Given the description of an element on the screen output the (x, y) to click on. 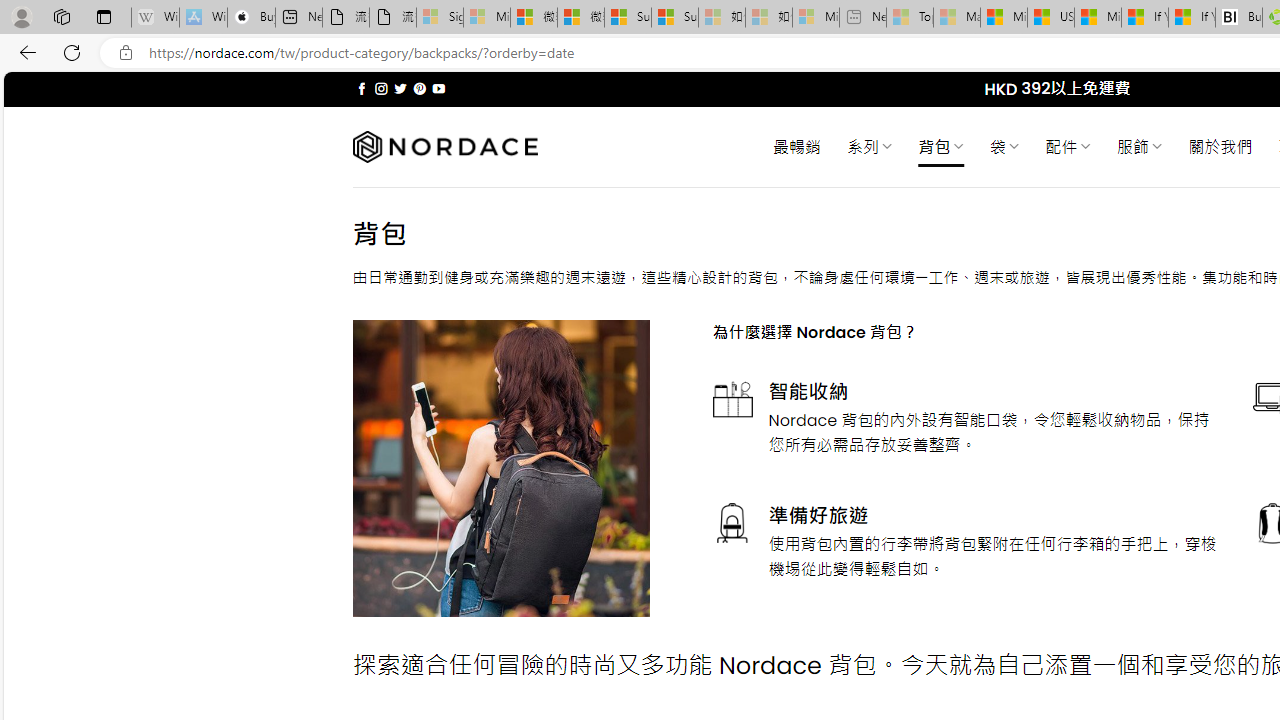
Top Stories - MSN - Sleeping (910, 17)
Follow on Instagram (381, 88)
Follow on YouTube (438, 88)
